Given the description of an element on the screen output the (x, y) to click on. 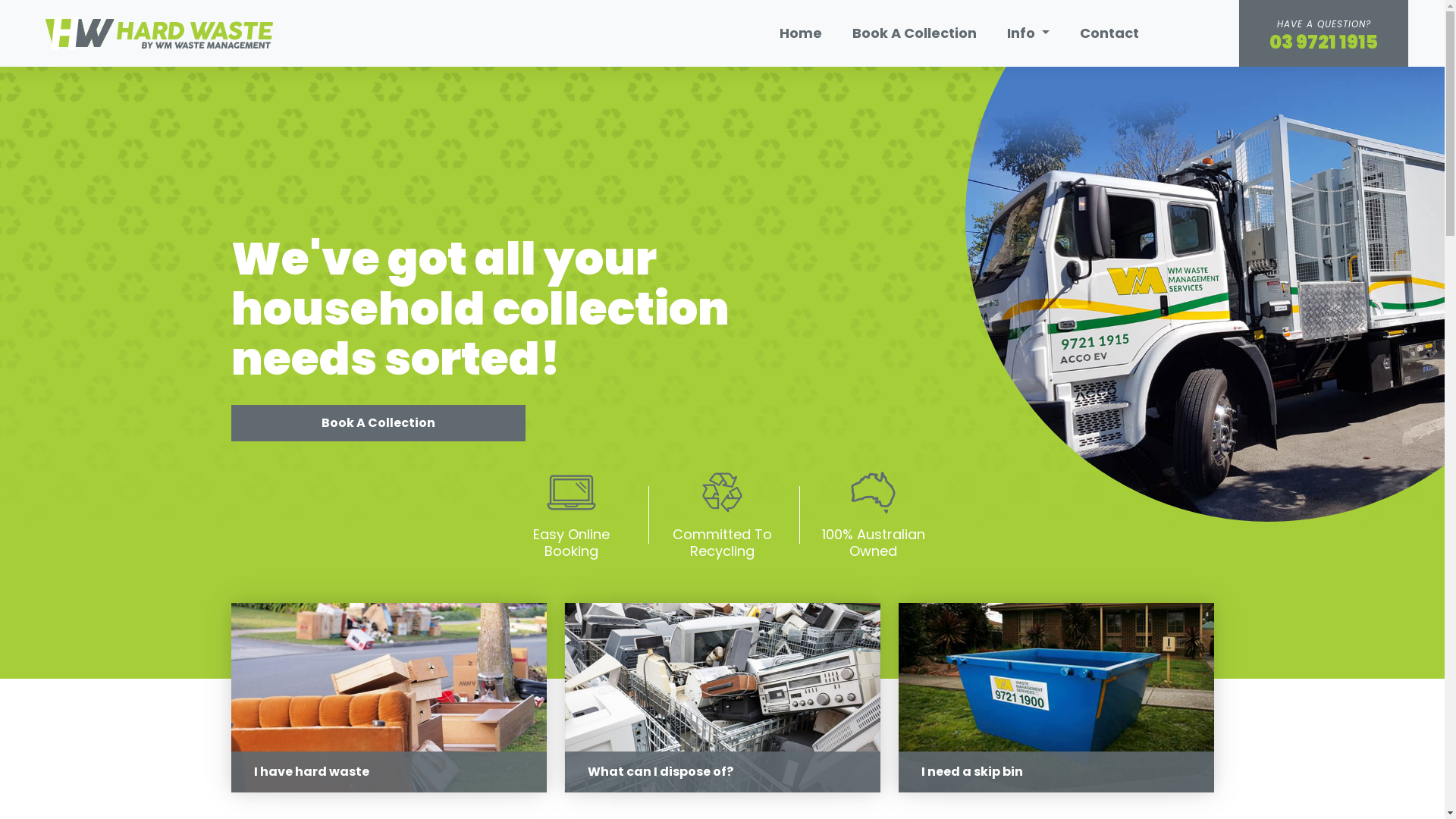
I have hard waste Element type: text (388, 697)
Info Element type: text (1027, 33)
I need a skip bin Element type: text (1055, 697)
What can I dispose of? Element type: text (721, 697)
Contact Element type: text (1109, 33)
HAVE A QUESTION?
03 9721 1915 Element type: text (1323, 33)
Home Element type: text (800, 33)
Book A Collection Element type: text (377, 422)
Book A Collection Element type: text (914, 33)
